Given the description of an element on the screen output the (x, y) to click on. 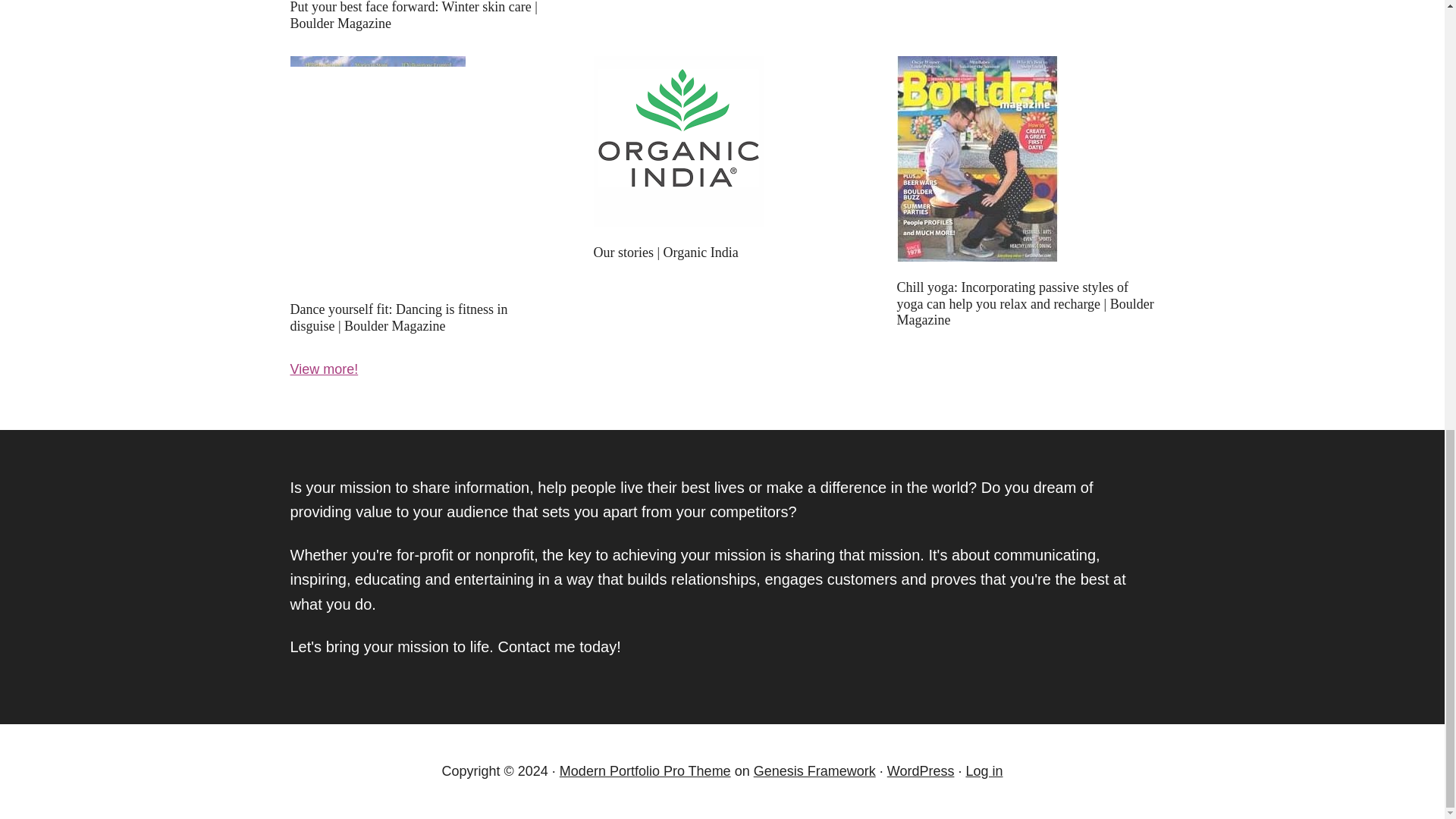
View more! (323, 368)
Genesis Framework (815, 770)
Portfolio (323, 368)
WordPress (920, 770)
Modern Portfolio Pro Theme (644, 770)
Log in (984, 770)
